Given the description of an element on the screen output the (x, y) to click on. 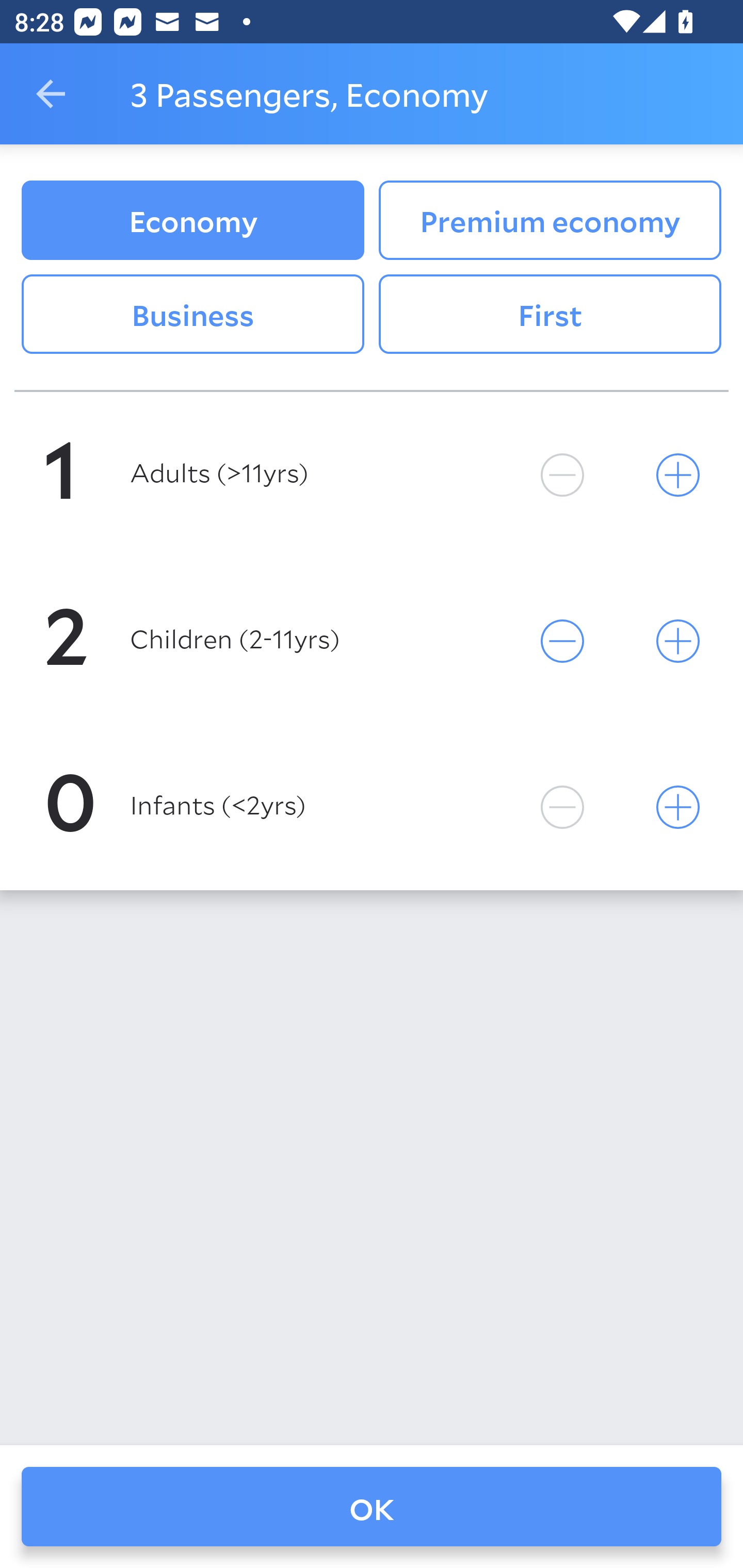
Navigate up (50, 93)
Economy (192, 220)
Premium economy (549, 220)
Business (192, 314)
First (549, 314)
OK (371, 1506)
